Given the description of an element on the screen output the (x, y) to click on. 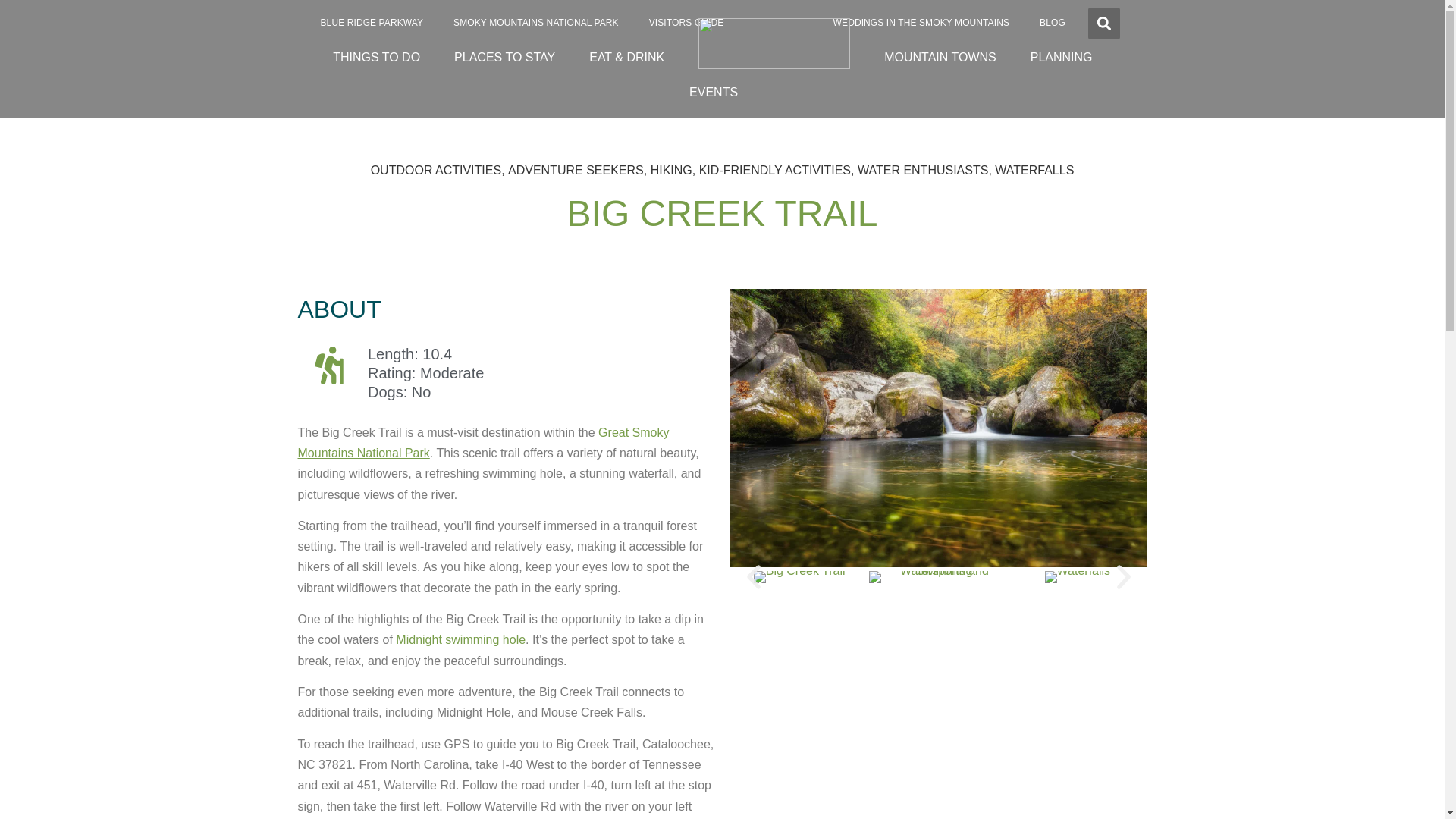
VISITORS GUIDE (686, 23)
BLOG (1052, 23)
BLUE RIDGE PARKWAY (371, 23)
PLANNING (1061, 57)
SMOKY MOUNTAINS NATIONAL PARK (535, 23)
PLACES TO STAY (504, 57)
THINGS TO DO (376, 57)
MOUNTAIN TOWNS (940, 57)
WEDDINGS IN THE SMOKY MOUNTAINS (921, 23)
